Given the description of an element on the screen output the (x, y) to click on. 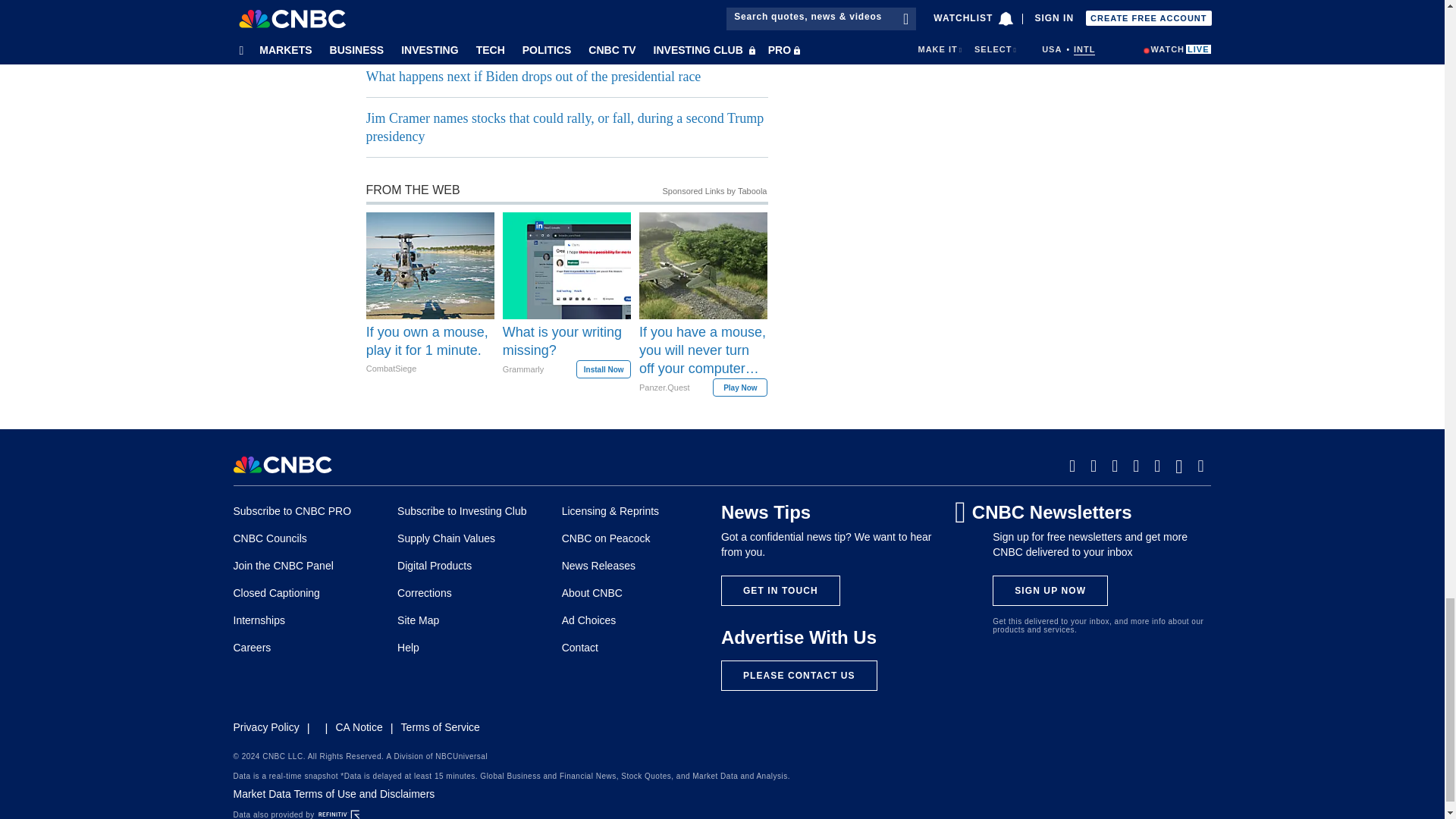
If you own a mouse, play it for 1 minute. (430, 349)
What is your writing missing? (566, 350)
